Given the description of an element on the screen output the (x, y) to click on. 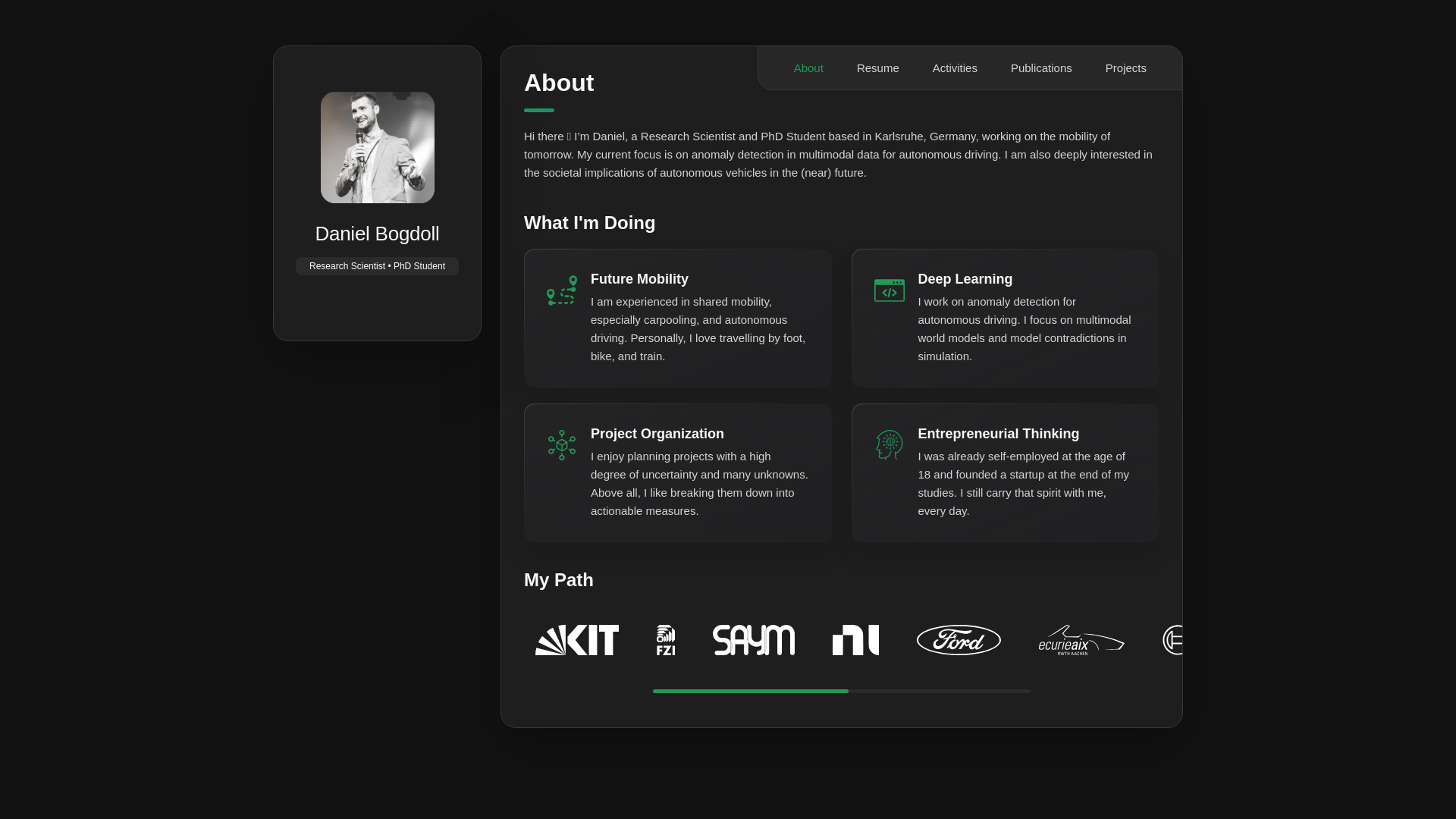
Resume (877, 67)
Publications (1041, 67)
Activities (954, 67)
Daniel Bogdoll (376, 233)
Projects (1125, 67)
About (808, 67)
